Given the description of an element on the screen output the (x, y) to click on. 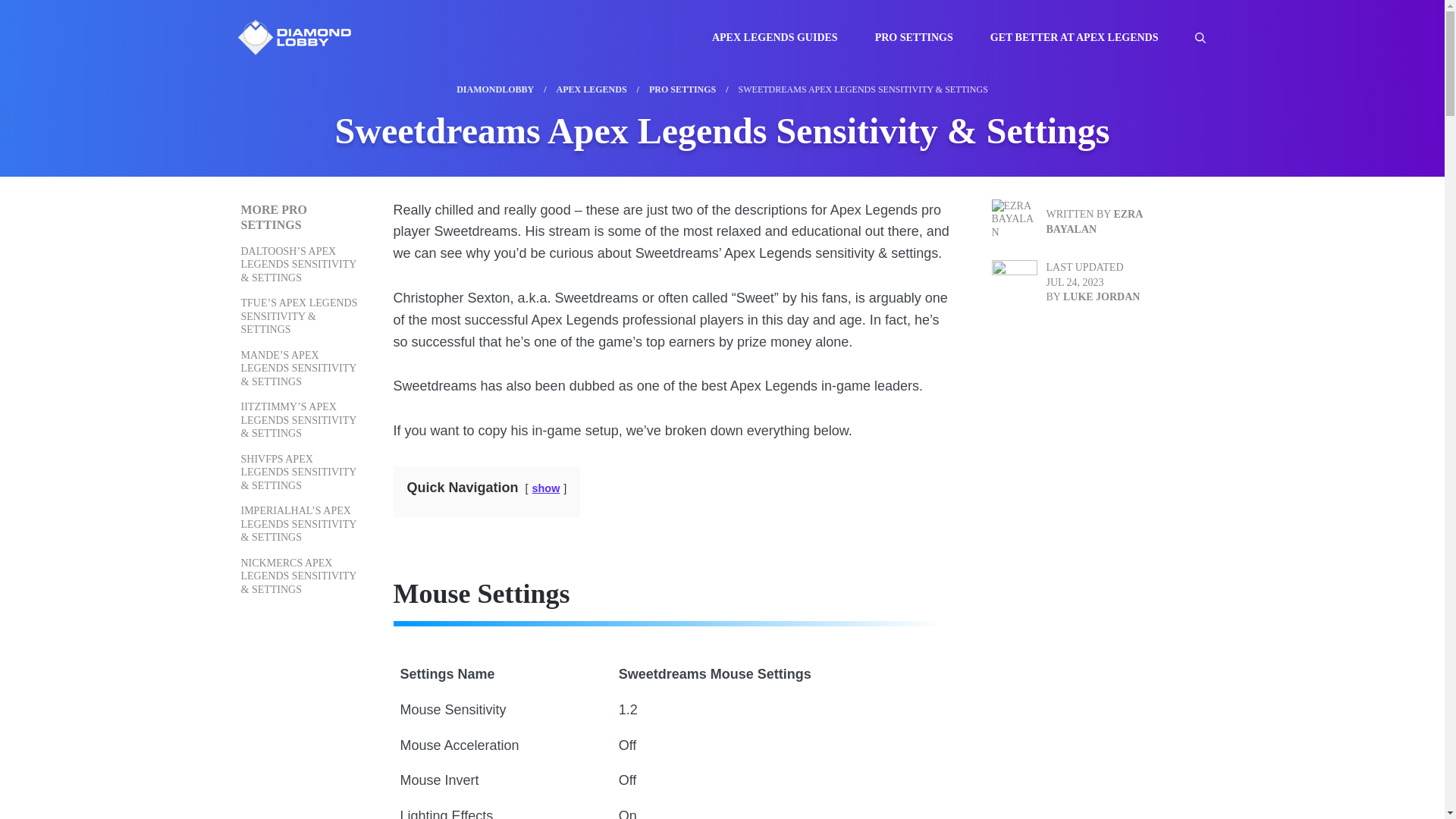
PRO SETTINGS (682, 89)
LUKE JORDAN (1101, 296)
EZRA BAYALAN (1094, 221)
DiamondLobby (292, 35)
DIAMONDLOBBY (495, 89)
APEX LEGENDS (591, 89)
GET BETTER AT APEX LEGENDS (1082, 37)
DiamondLobby (292, 37)
show (546, 488)
APEX LEGENDS GUIDES (782, 37)
PRO SETTINGS (921, 37)
